Given the description of an element on the screen output the (x, y) to click on. 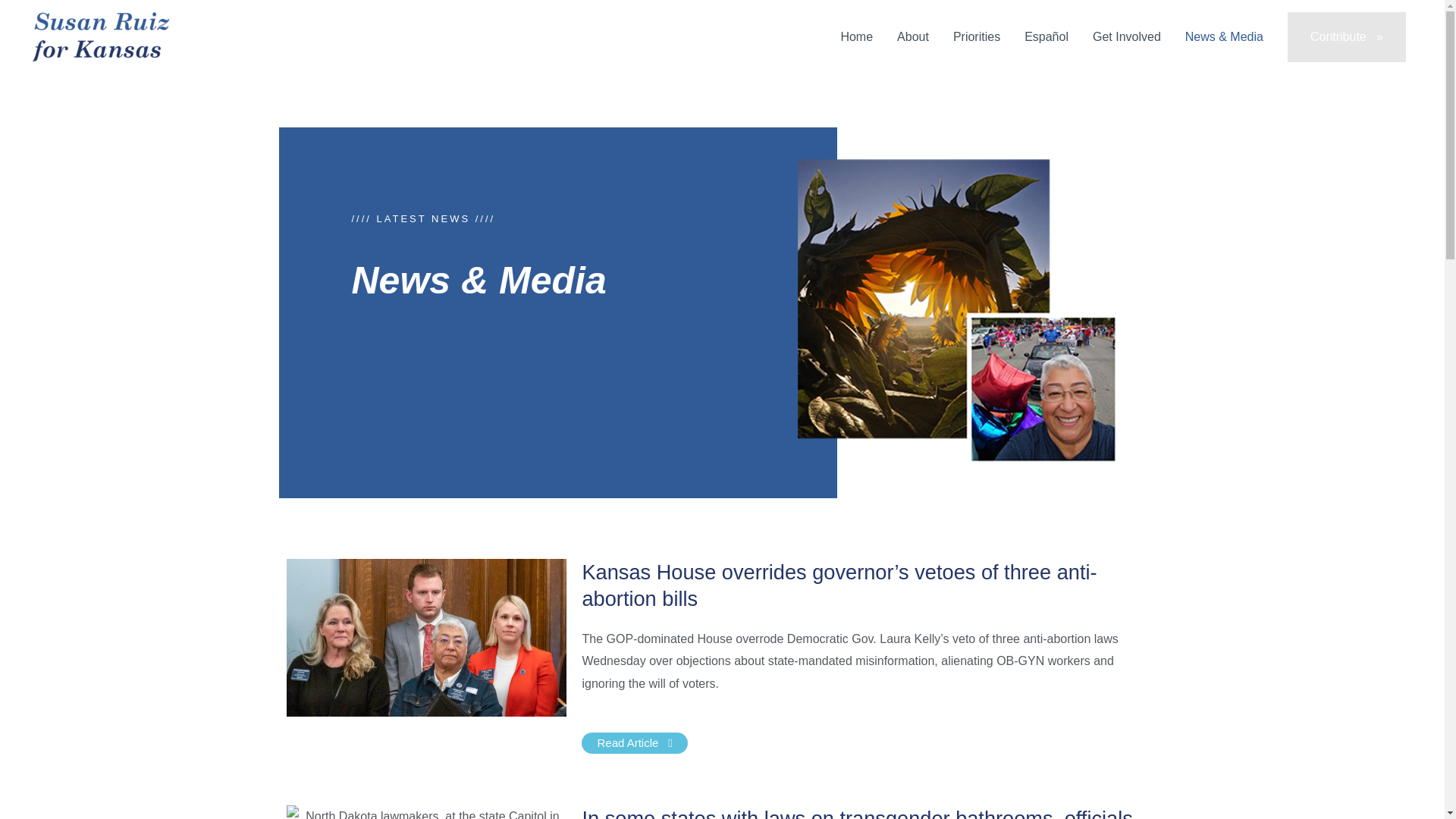
Get Involved (1126, 37)
Read Article (633, 742)
Priorities (975, 37)
Home (856, 37)
About (912, 37)
